Given the description of an element on the screen output the (x, y) to click on. 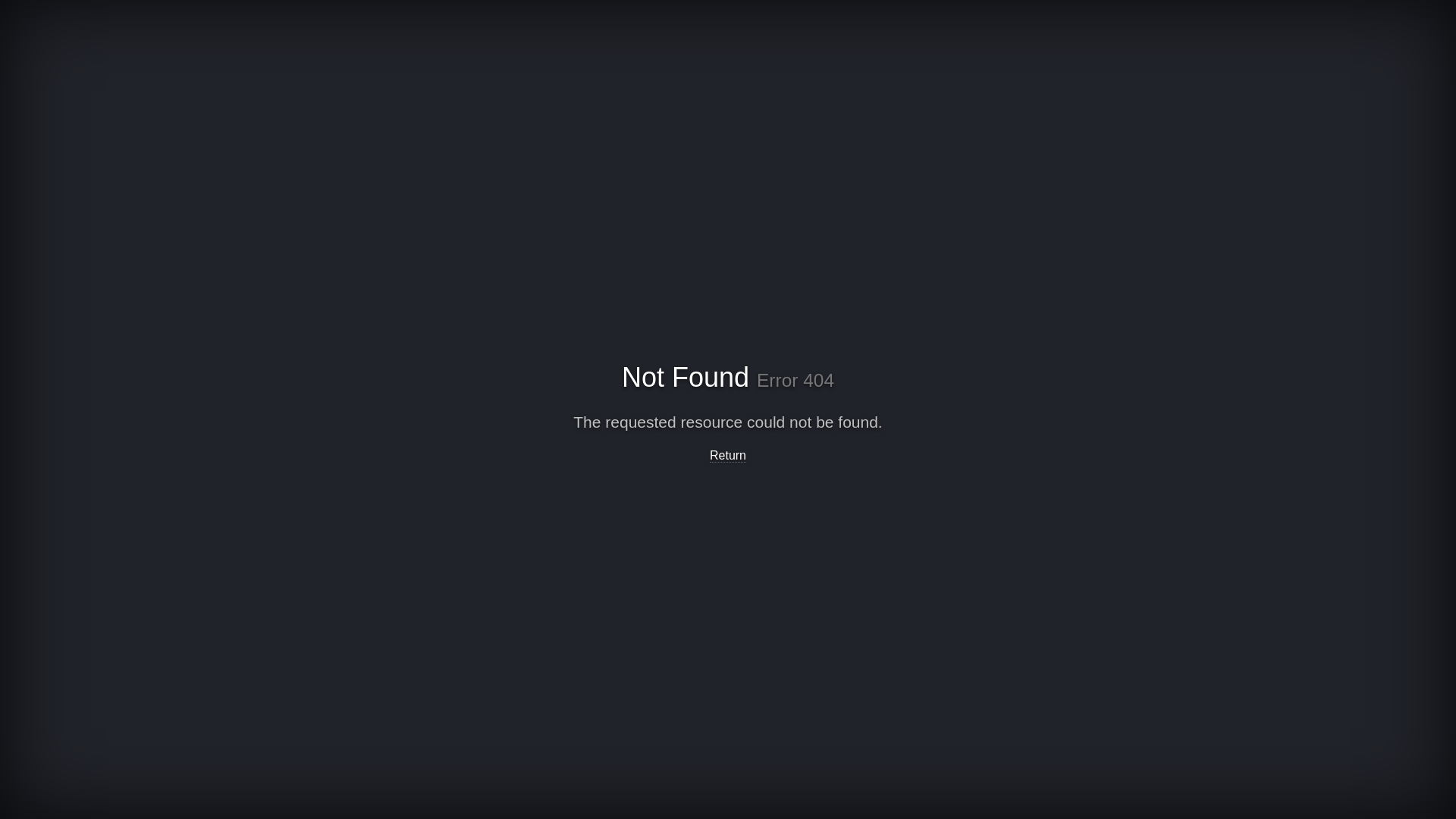
Return Element type: text (727, 455)
